Given the description of an element on the screen output the (x, y) to click on. 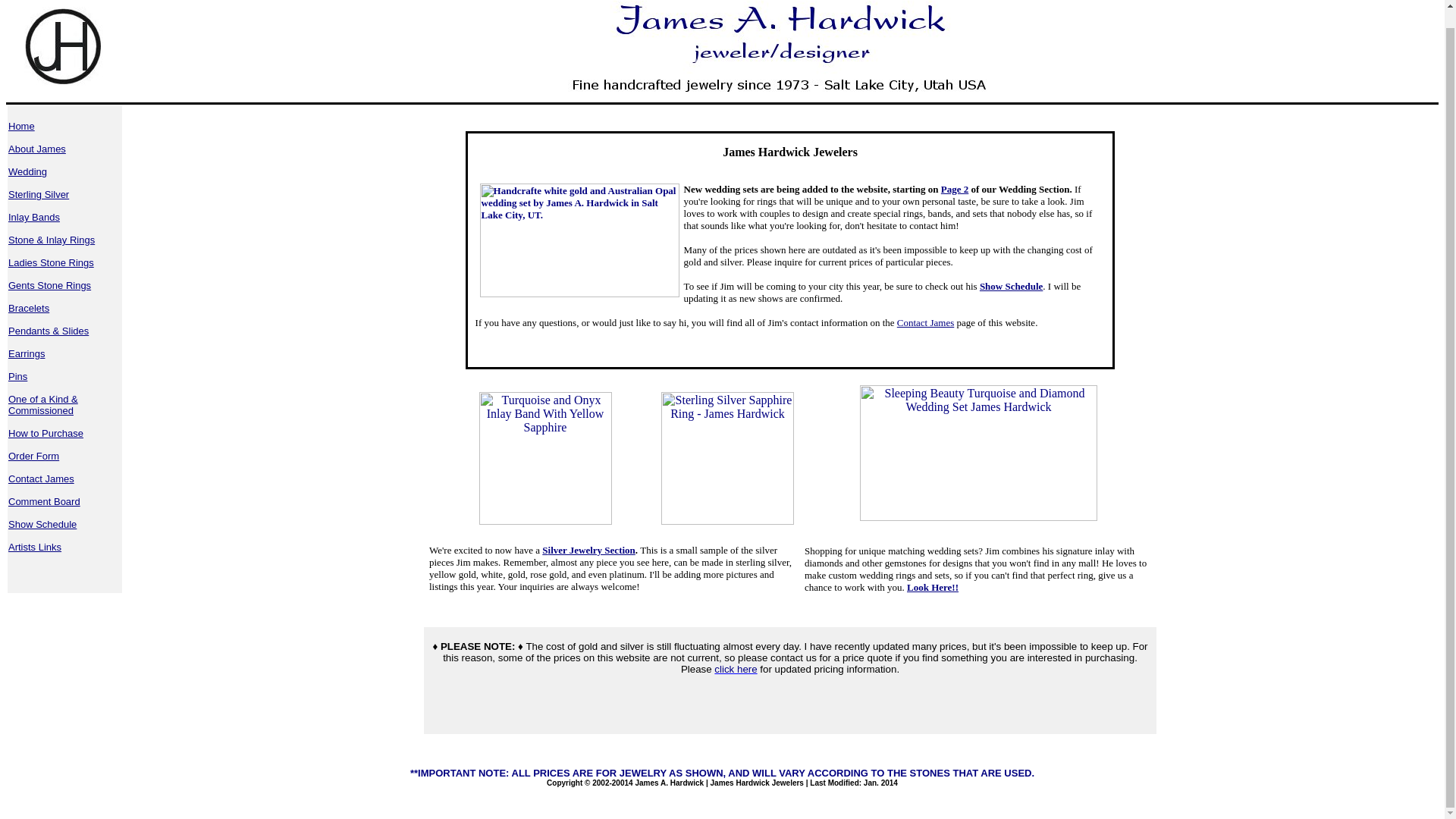
Contact James (41, 478)
Page 2 (954, 188)
About James (36, 148)
Look Here!! (932, 586)
Wedding (27, 171)
Pins (17, 376)
Inlay Bands (33, 216)
How to Purchase (45, 432)
Sterling Silver (38, 194)
Comment Board (44, 501)
Artists Links (34, 546)
Gents Stone Rings (49, 285)
Order Form (33, 455)
Show Schedule (42, 523)
Contact James (924, 322)
